Given the description of an element on the screen output the (x, y) to click on. 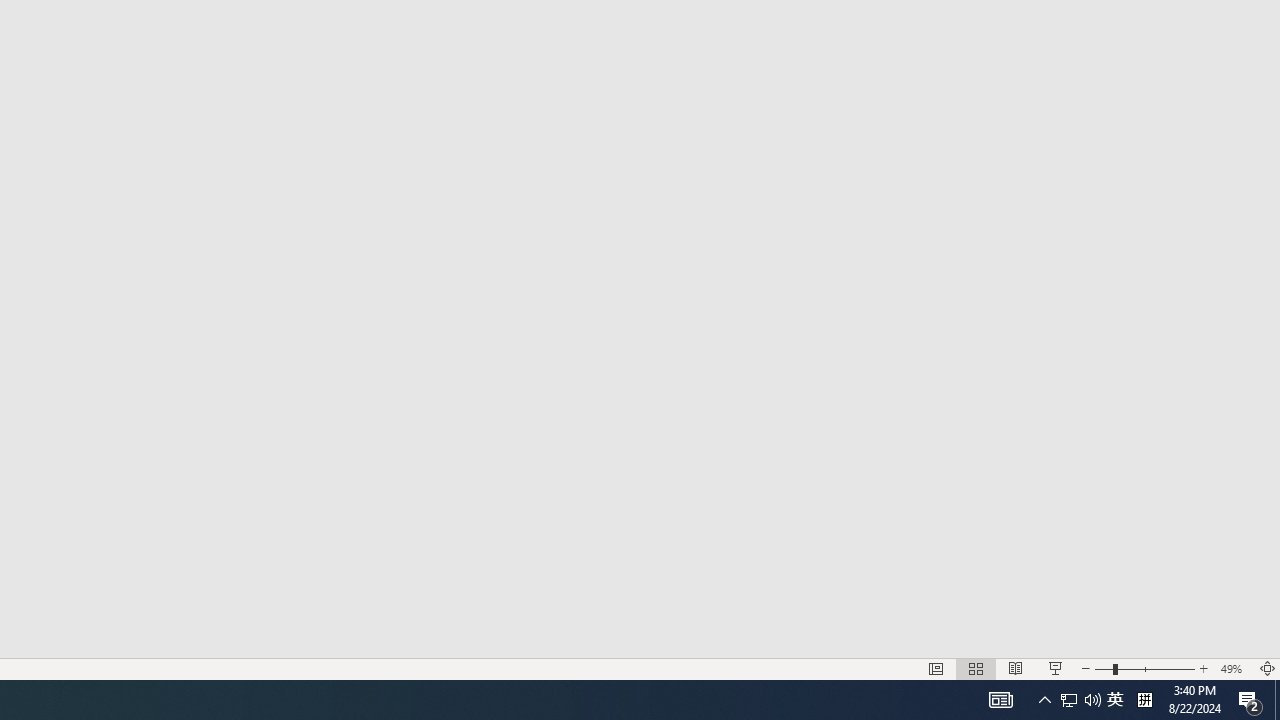
Zoom 49% (1234, 668)
